Given the description of an element on the screen output the (x, y) to click on. 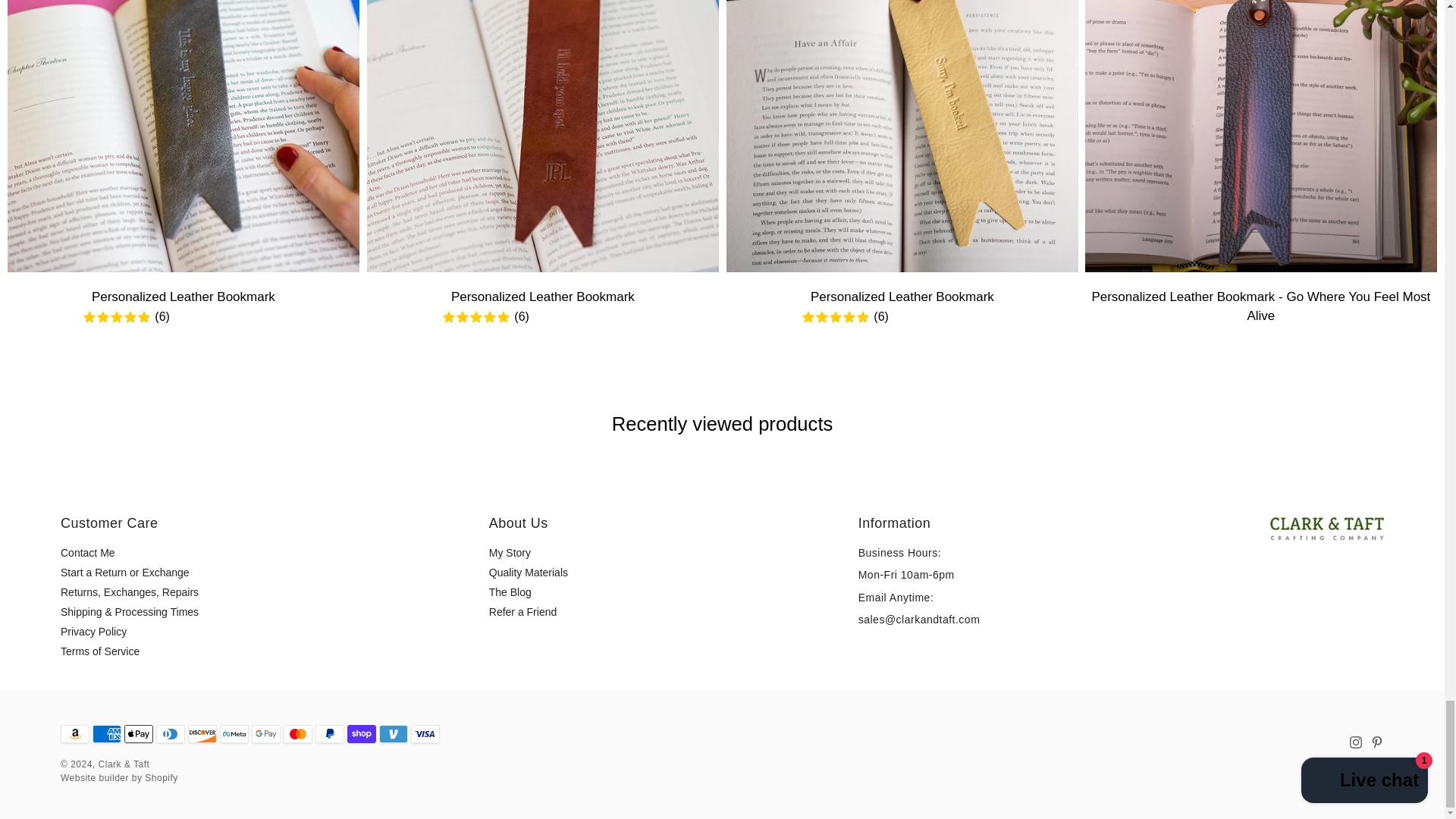
Personalized Leather Bookmark - Go Where You Feel Most Alive (1260, 135)
Personalized Leather Bookmark (902, 135)
Personalized Leather Bookmark (183, 135)
Personalized Leather Bookmark (542, 135)
